Given the description of an element on the screen output the (x, y) to click on. 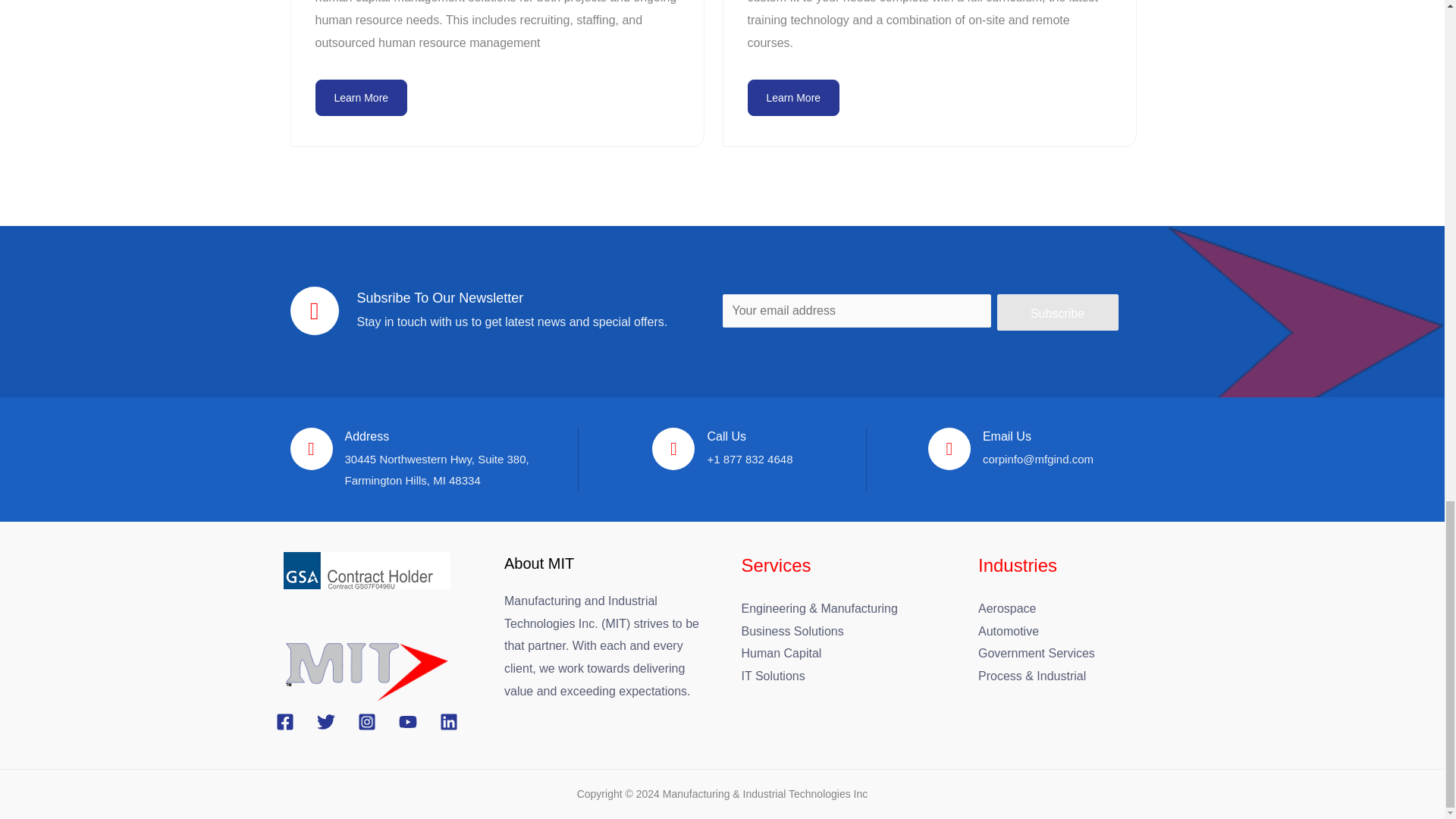
Learn More (794, 97)
Learn More (361, 97)
Subscribe (1056, 312)
